Given the description of an element on the screen output the (x, y) to click on. 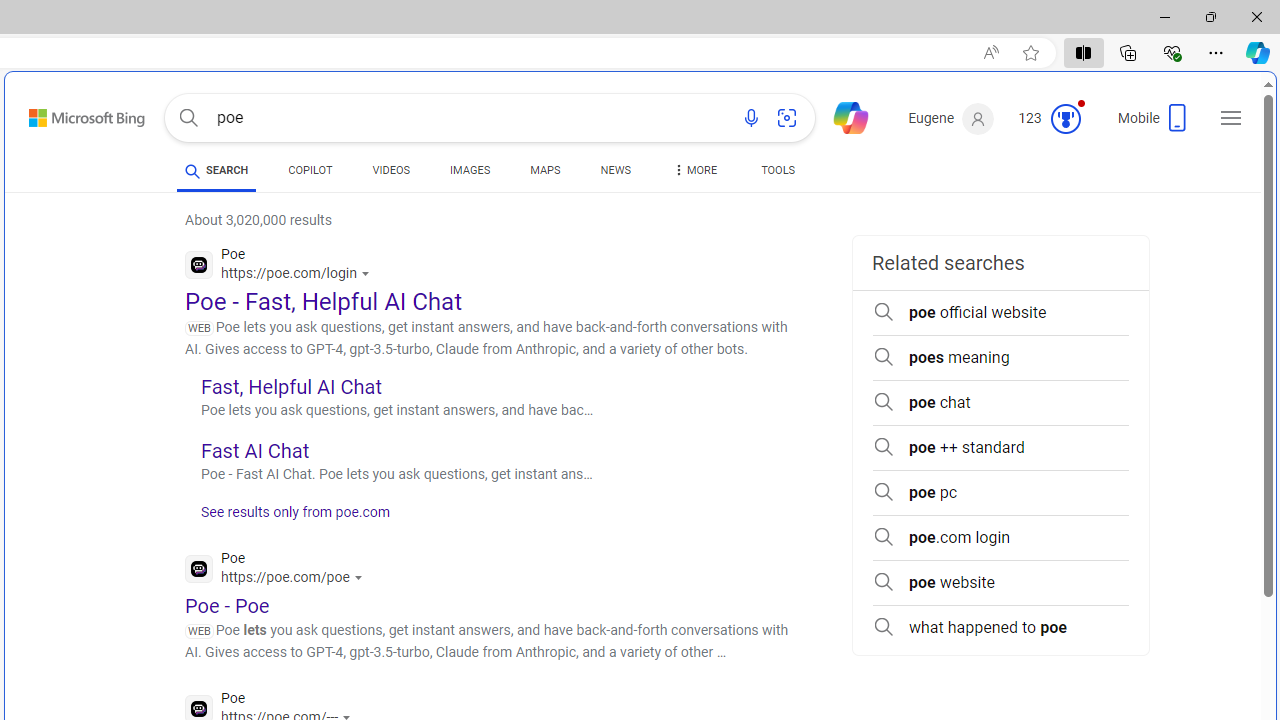
Poe - Fast, Helpful AI Chat (323, 301)
poe chat (1000, 402)
Fast, Helpful AI Chat (290, 385)
NEWS (614, 170)
Chat (842, 116)
poe.com login (1000, 538)
VIDEOS (390, 173)
SEARCH (216, 170)
